Given the description of an element on the screen output the (x, y) to click on. 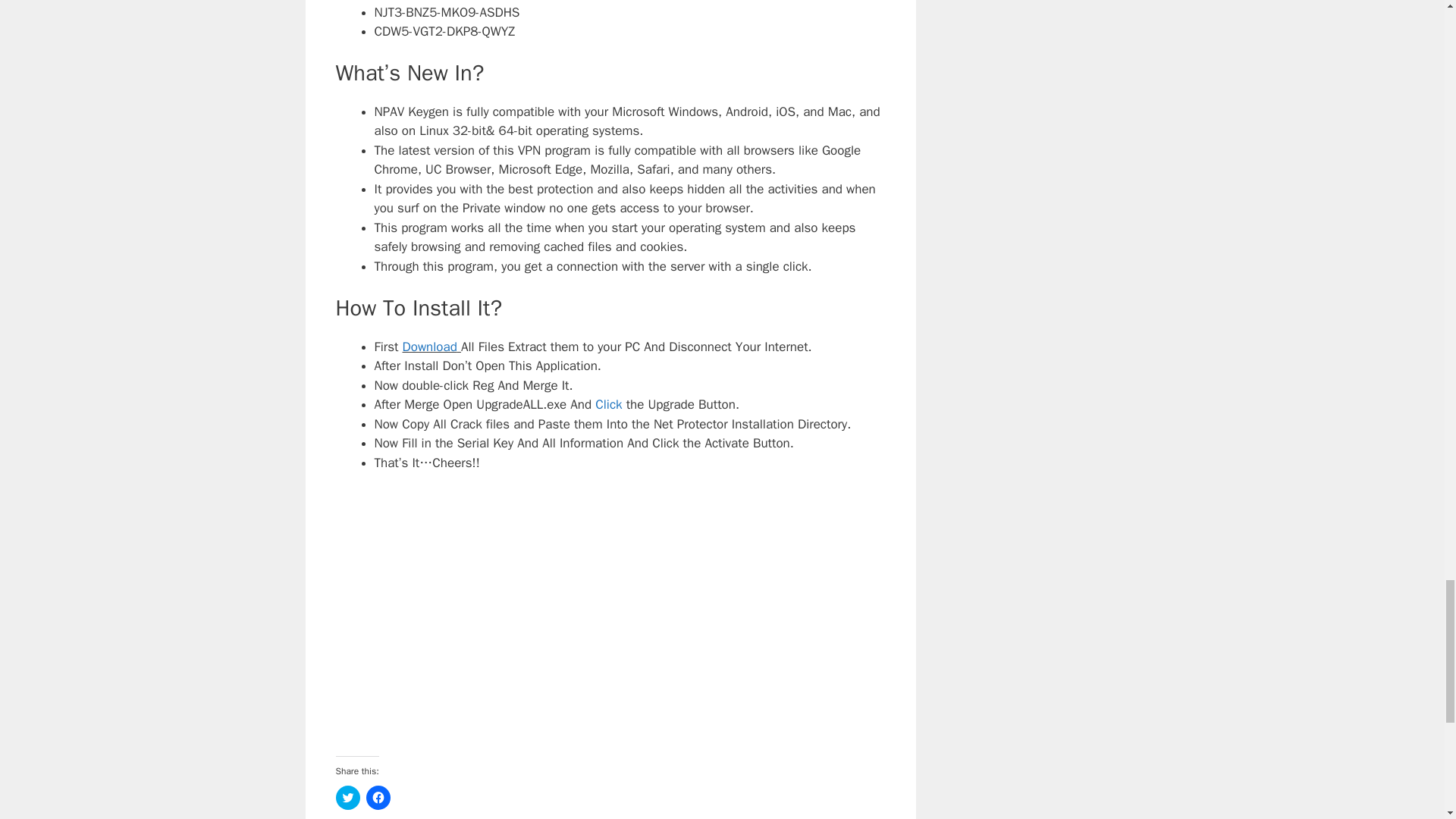
Click (608, 404)
YouTube video player (609, 611)
Click to share on Twitter (346, 797)
Click to share on Facebook (377, 797)
Download (430, 346)
